Given the description of an element on the screen output the (x, y) to click on. 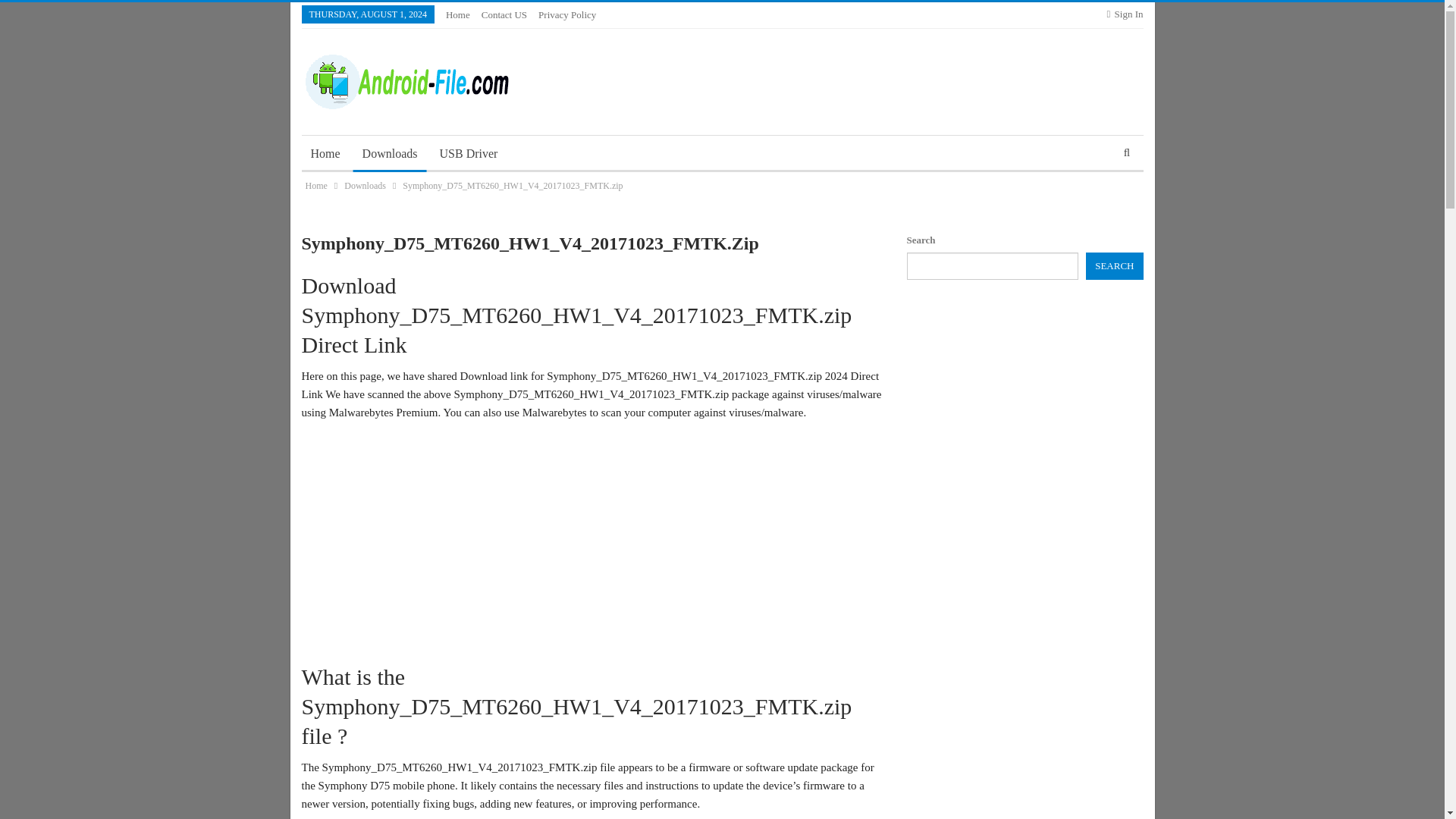
Home (457, 14)
Downloads (389, 153)
Home (315, 185)
Contact US (504, 14)
Sign In (1124, 13)
Advertisement (592, 540)
Privacy Policy (566, 14)
USB Driver (468, 153)
Downloads (364, 185)
Home (325, 153)
SEARCH (1114, 266)
